Given the description of an element on the screen output the (x, y) to click on. 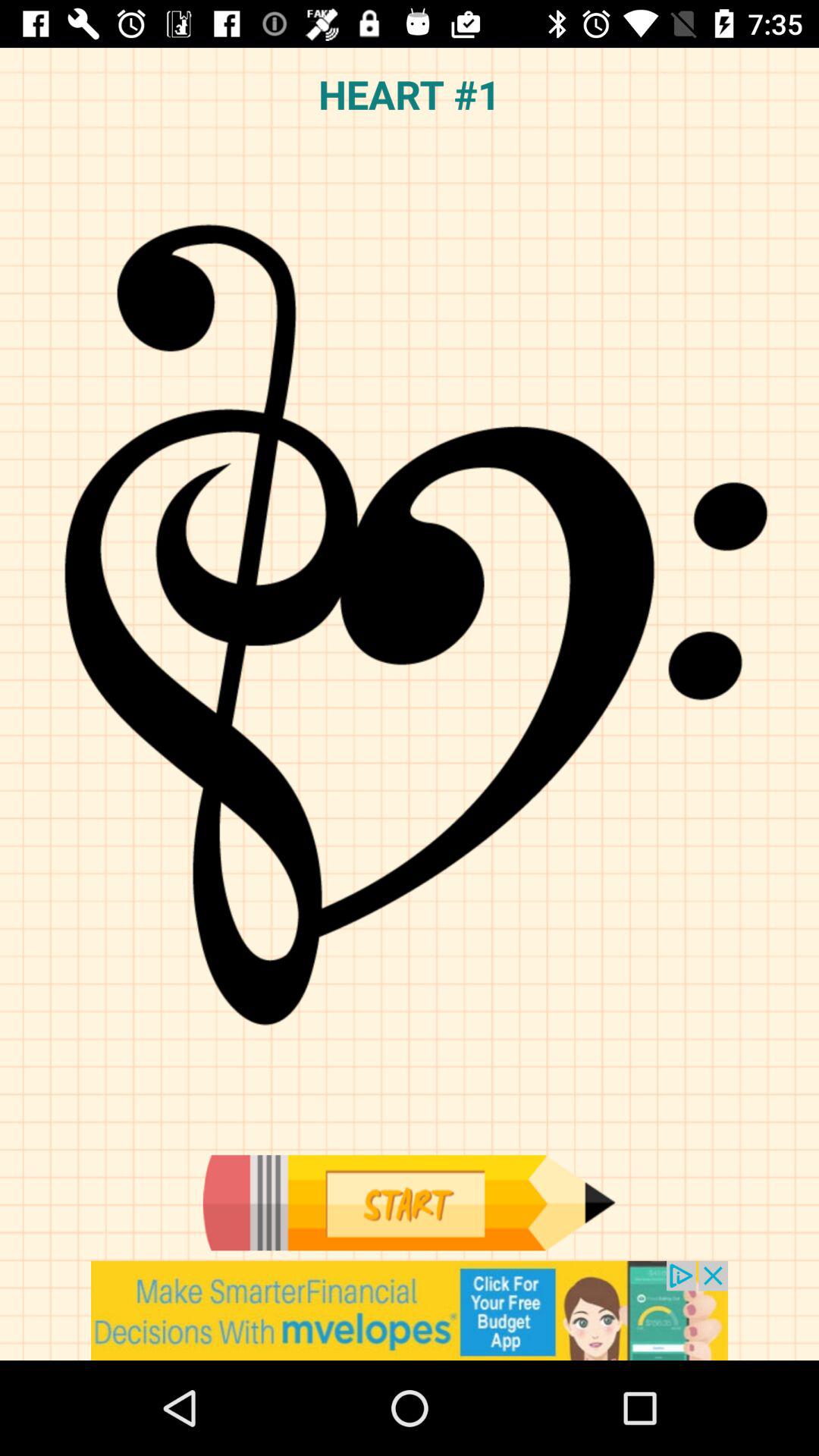
install app (409, 1310)
